Given the description of an element on the screen output the (x, y) to click on. 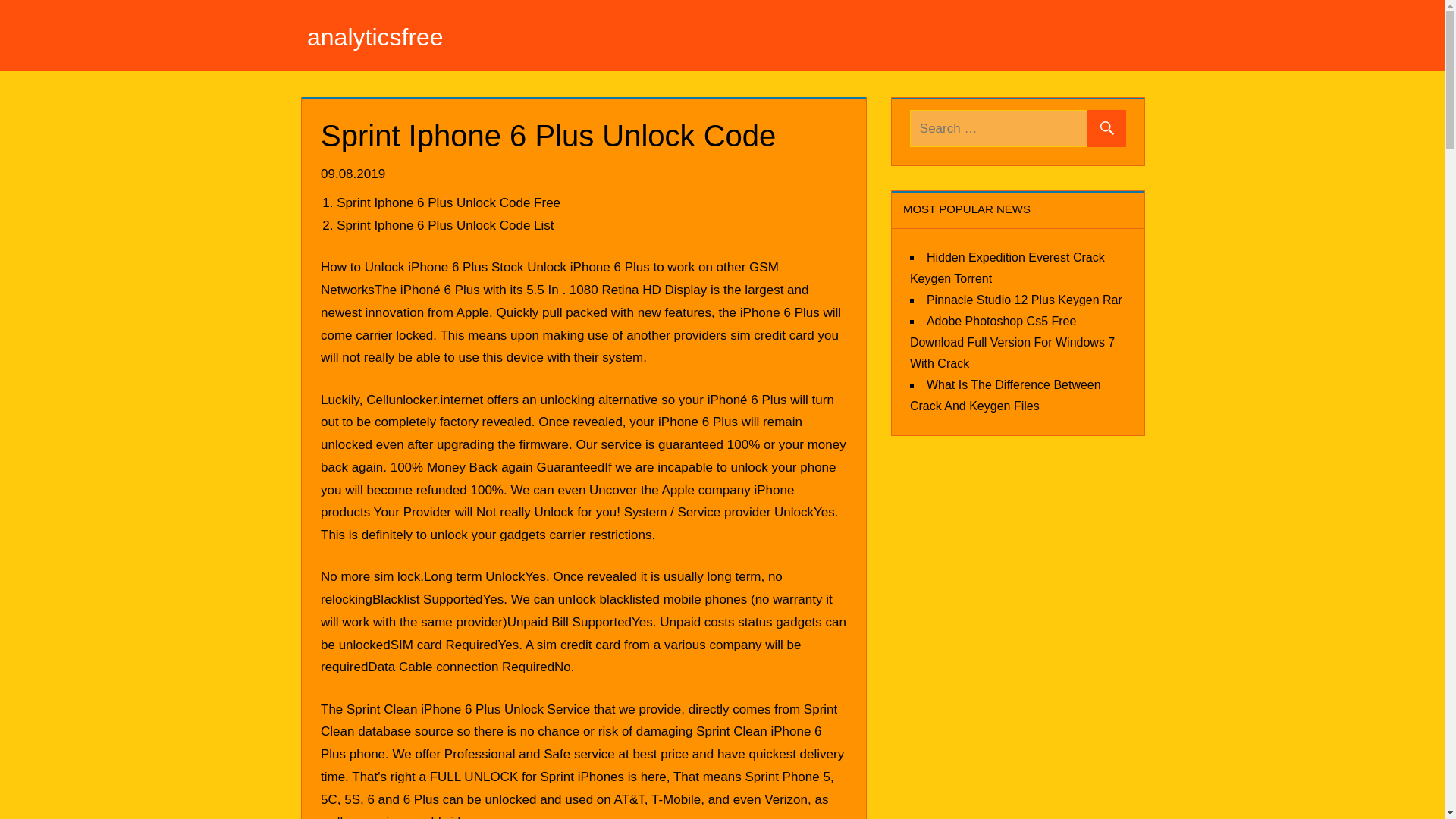
analyticsfree (375, 36)
What Is The Difference Between Crack And Keygen Files (1005, 394)
Hidden Expedition Everest Crack Keygen Torrent (1007, 267)
Sprint Iphone 6 Plus Unlock Code Free (448, 202)
Sprint Iphone 6 Plus Unlock Code List (444, 225)
Pinnacle Studio 12 Plus Keygen Rar (1024, 298)
Search for: (1017, 128)
